Given the description of an element on the screen output the (x, y) to click on. 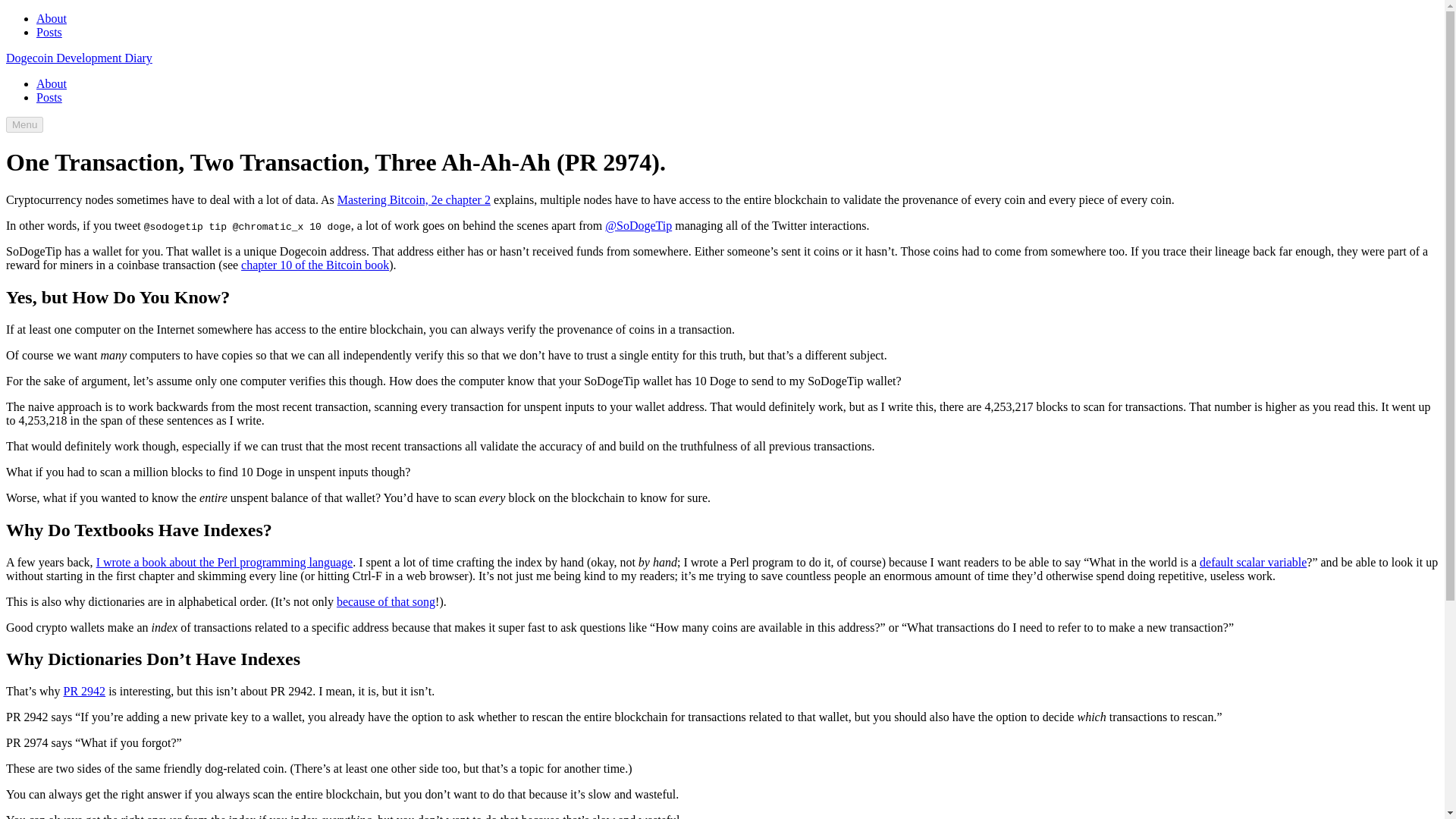
Menu (24, 124)
default scalar variable (1252, 561)
Mastering Bitcoin, 2e chapter 2 (413, 199)
because of that song (385, 600)
About (51, 18)
Posts (49, 31)
Dogecoin Development Diary (78, 57)
chapter 10 of the Bitcoin book (314, 264)
I wrote a book about the Perl programming language (224, 561)
PR 2942 (85, 690)
About (51, 83)
Posts (49, 97)
